Given the description of an element on the screen output the (x, y) to click on. 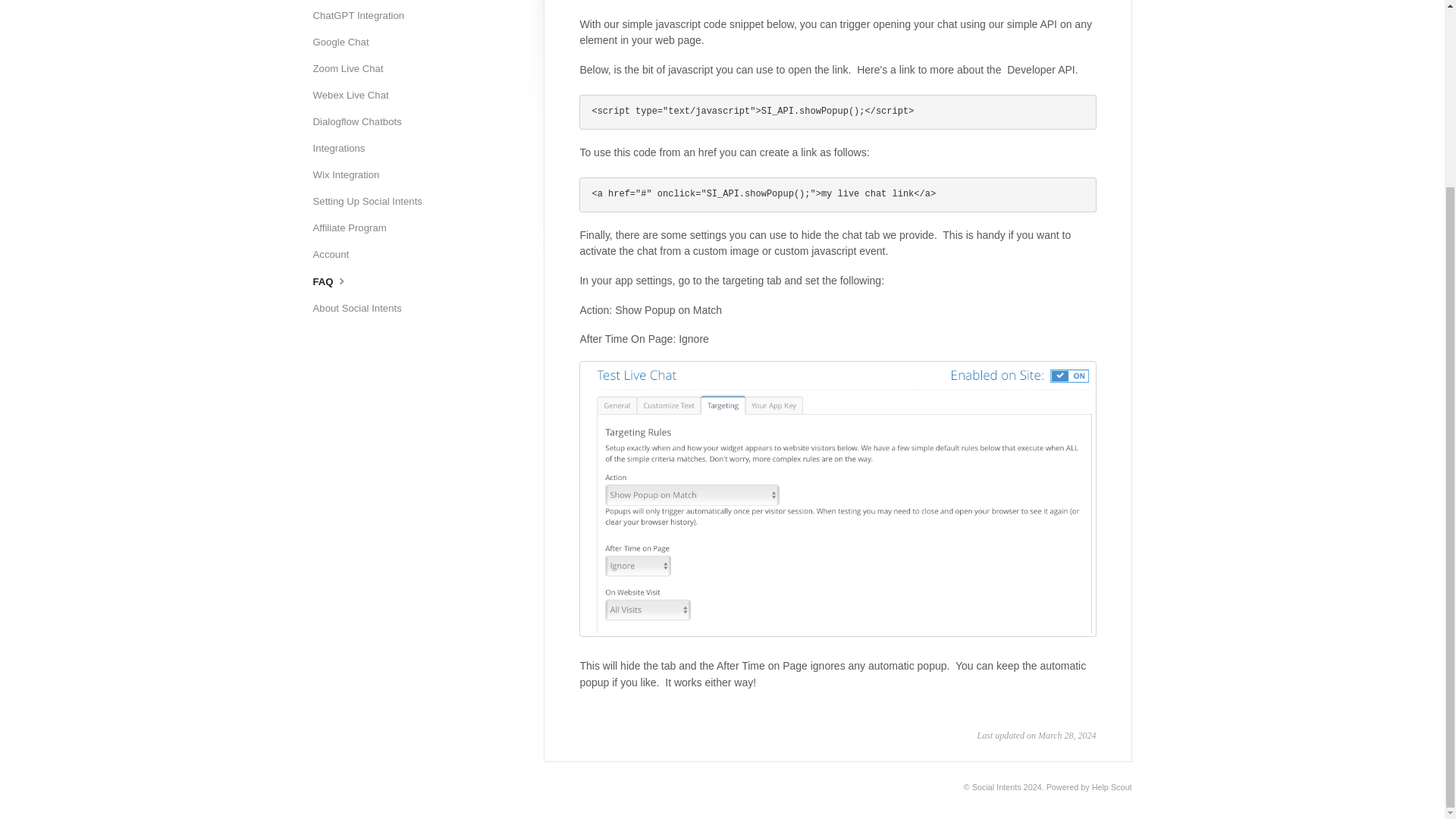
Webex Live Chat (355, 95)
About Social Intents (362, 308)
Help Scout (1112, 786)
Google Chat (346, 42)
Affiliate Program (355, 228)
Slack Live Chat Help (364, 0)
Wix Integration (351, 174)
Integrations (344, 148)
Zoom Live Chat (353, 68)
Dialogflow Chatbots (362, 121)
Account (336, 254)
Social Intents (997, 786)
ChatGPT Integration (363, 15)
Developer API (1041, 69)
Setting Up Social Intents (372, 201)
